Given the description of an element on the screen output the (x, y) to click on. 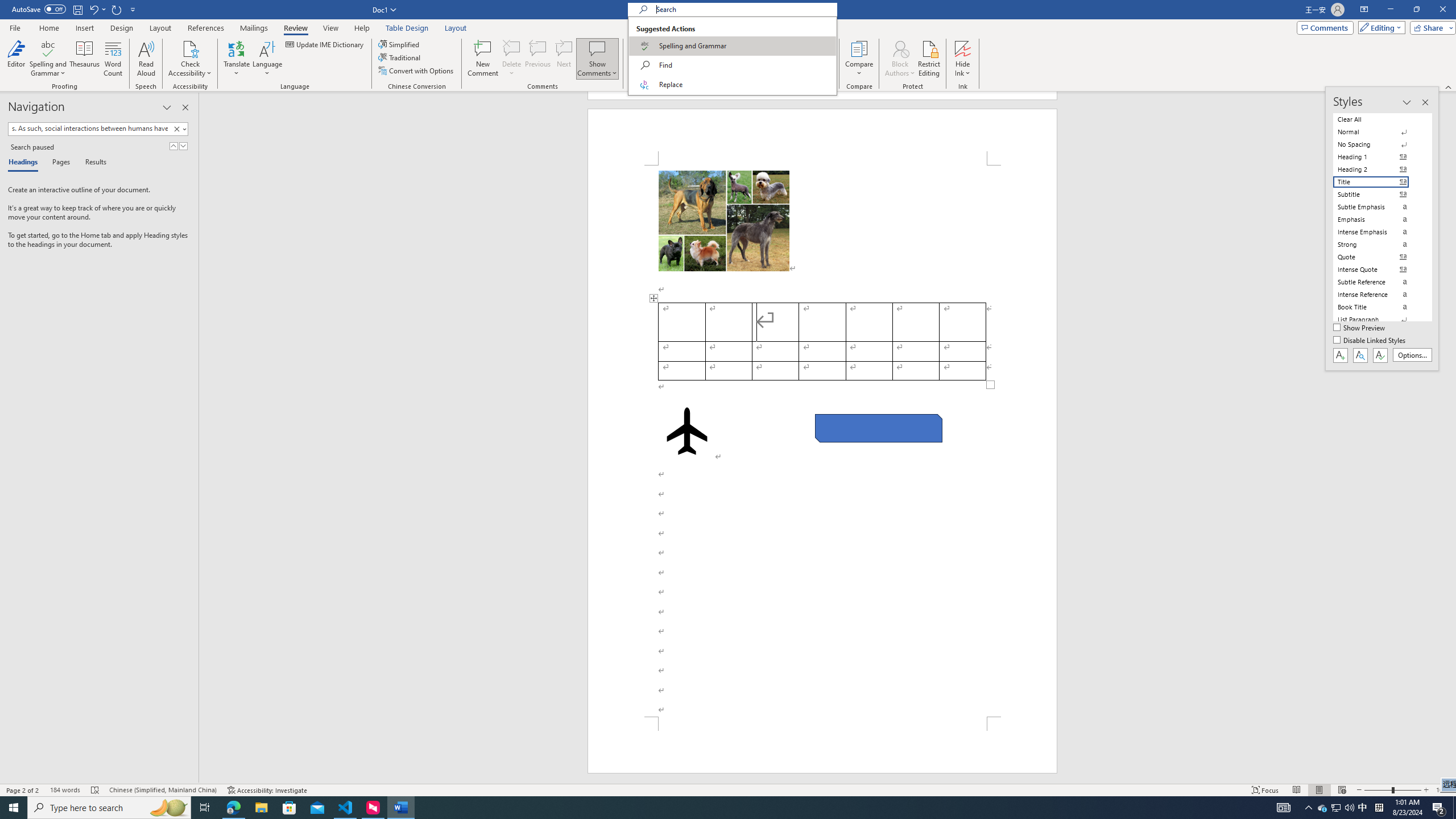
Update IME Dictionary... (324, 44)
Language Chinese (Simplified, Mainland China) (162, 790)
Change Tracking Options... (735, 85)
Results (91, 162)
Insert (83, 28)
Customize Quick Access Toolbar (133, 9)
Zoom (1392, 790)
Next (808, 56)
